Given the description of an element on the screen output the (x, y) to click on. 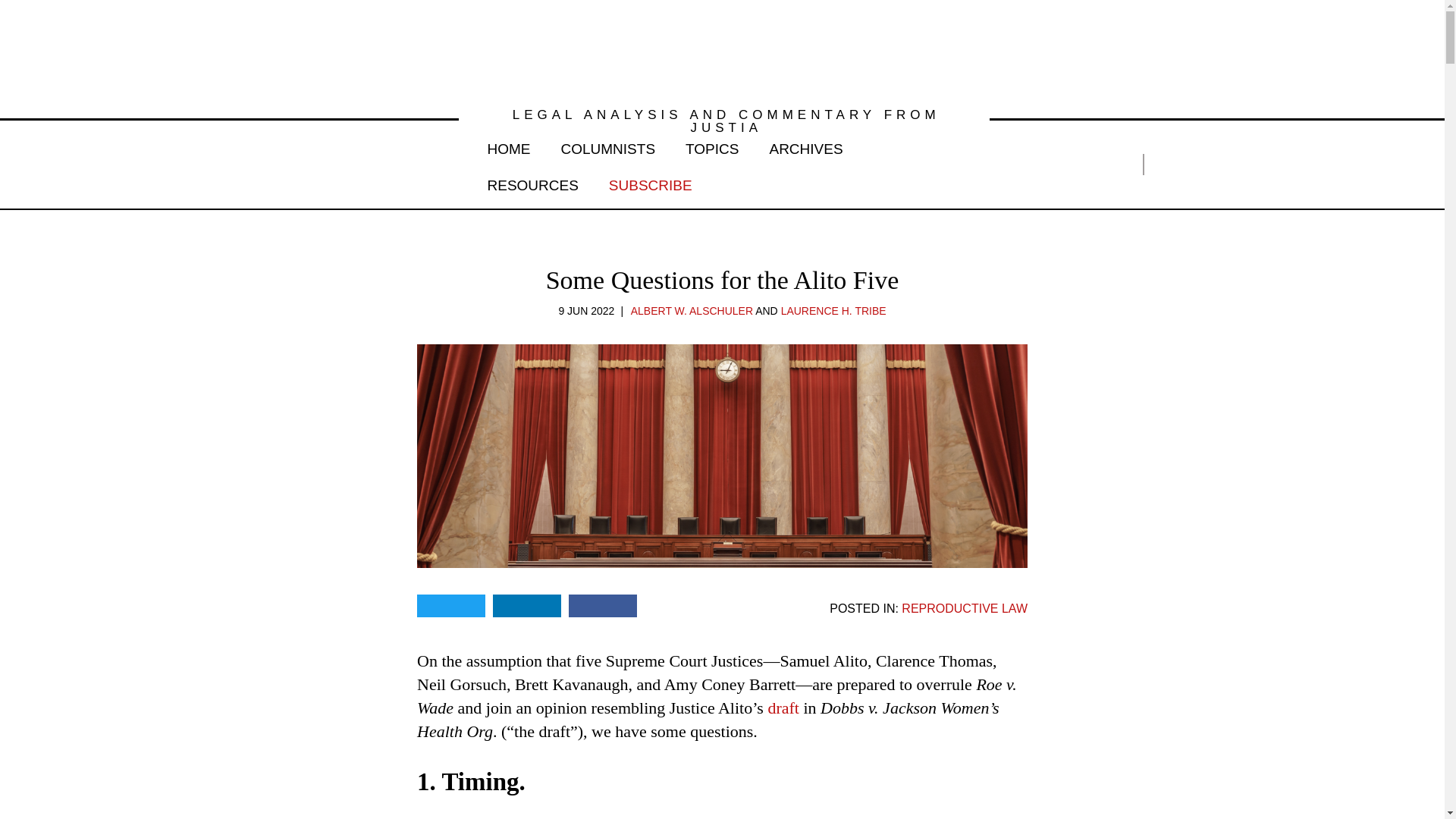
ALBERT W. ALSCHULER (691, 310)
RESOURCES (531, 182)
Verdict Homepage (721, 50)
REPRODUCTIVE LAW (964, 608)
Justia (323, 163)
COLUMNISTS (608, 145)
TOPICS (711, 145)
Justia (323, 163)
LAURENCE H. TRIBE (833, 310)
LEGAL ANALYSIS AND COMMENTARY FROM JUSTIA (724, 121)
ARCHIVES (805, 145)
Verdict (721, 50)
SUBSCRIBE (650, 182)
View all posts in Reproductive Law (964, 608)
draft (783, 707)
